Given the description of an element on the screen output the (x, y) to click on. 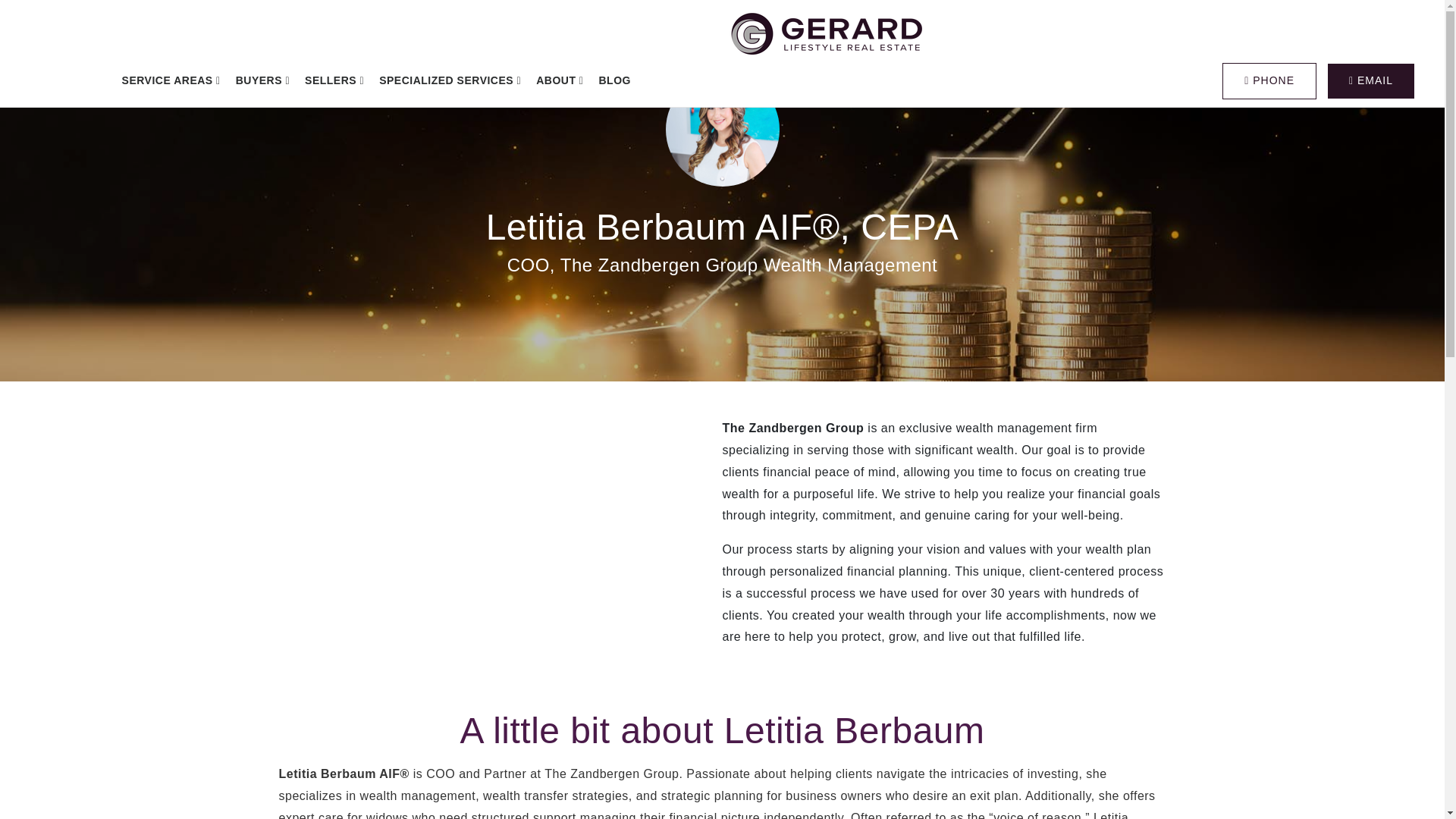
PHONE (1269, 81)
SERVICE AREAS (171, 80)
BLOG (614, 80)
EMAIL (1370, 80)
SPECIALIZED SERVICES (449, 80)
BUYERS (262, 80)
SELLERS (334, 80)
ABOUT (559, 80)
